Given the description of an element on the screen output the (x, y) to click on. 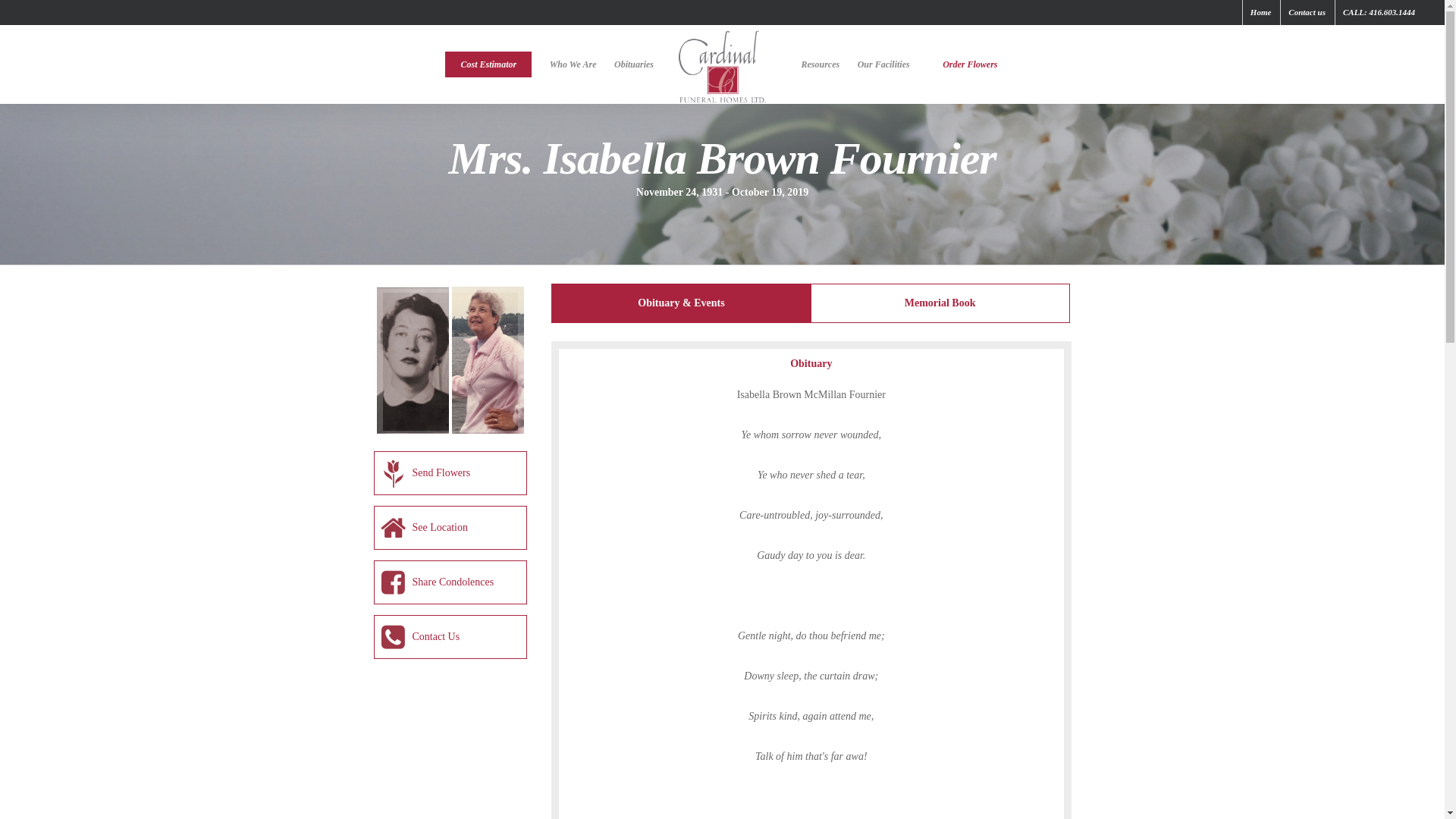
Order Flowers (969, 66)
CALL: 416.603.1444 (1378, 12)
Contact us (1306, 12)
Cost Estimator (488, 66)
Home (1260, 12)
